Given the description of an element on the screen output the (x, y) to click on. 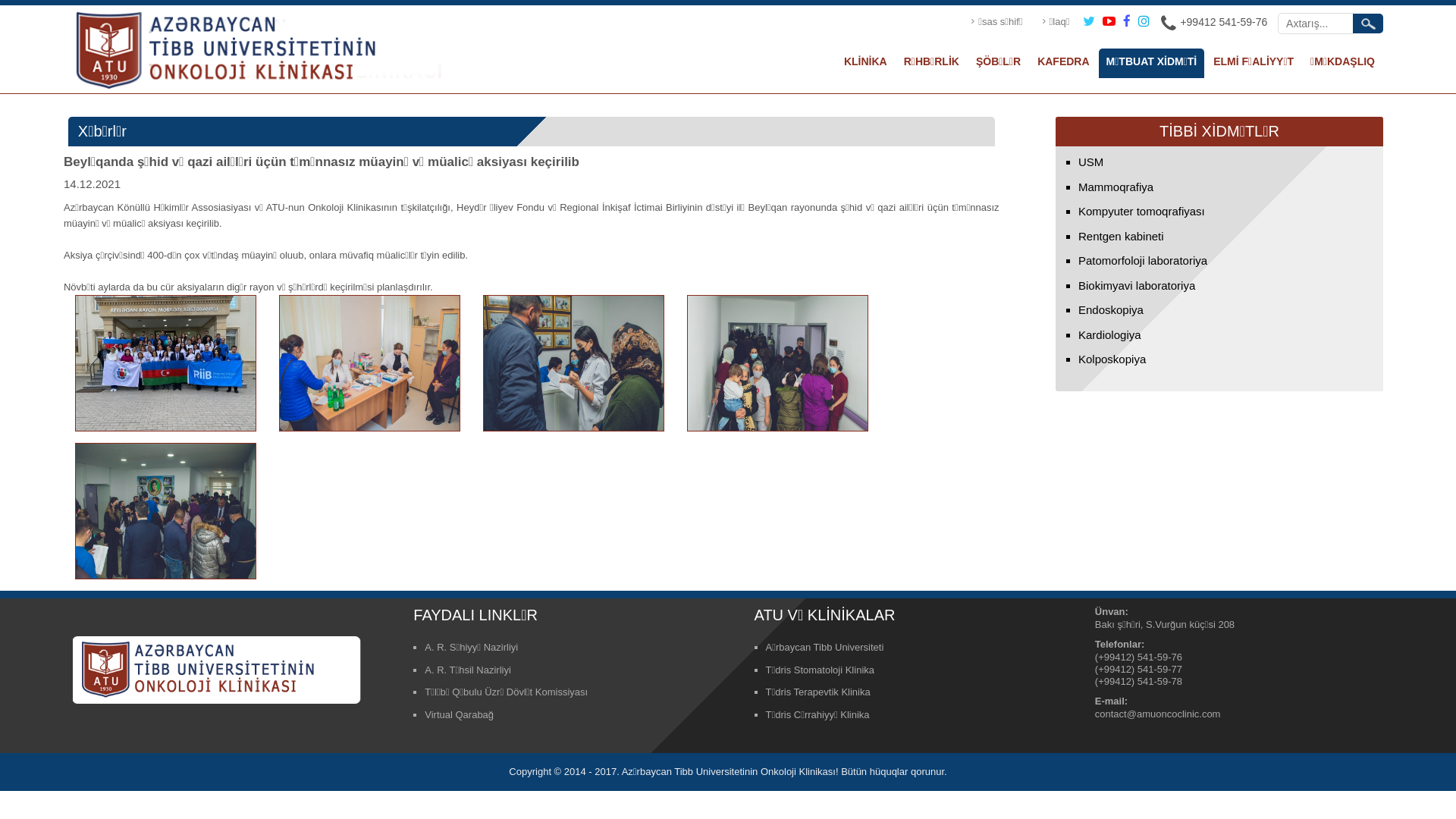
Kardiologiya Element type: text (1109, 333)
KAFEDRA Element type: text (1062, 63)
Search Element type: text (1367, 23)
Patomorfoloji laboratoriya Element type: text (1142, 260)
Kolposkopiya Element type: text (1111, 358)
USM Element type: text (1090, 161)
Mammoqrafiya Element type: text (1115, 186)
Biokimyavi laboratoriya Element type: text (1136, 285)
Rentgen kabineti Element type: text (1121, 235)
Endoskopiya Element type: text (1110, 309)
